Given the description of an element on the screen output the (x, y) to click on. 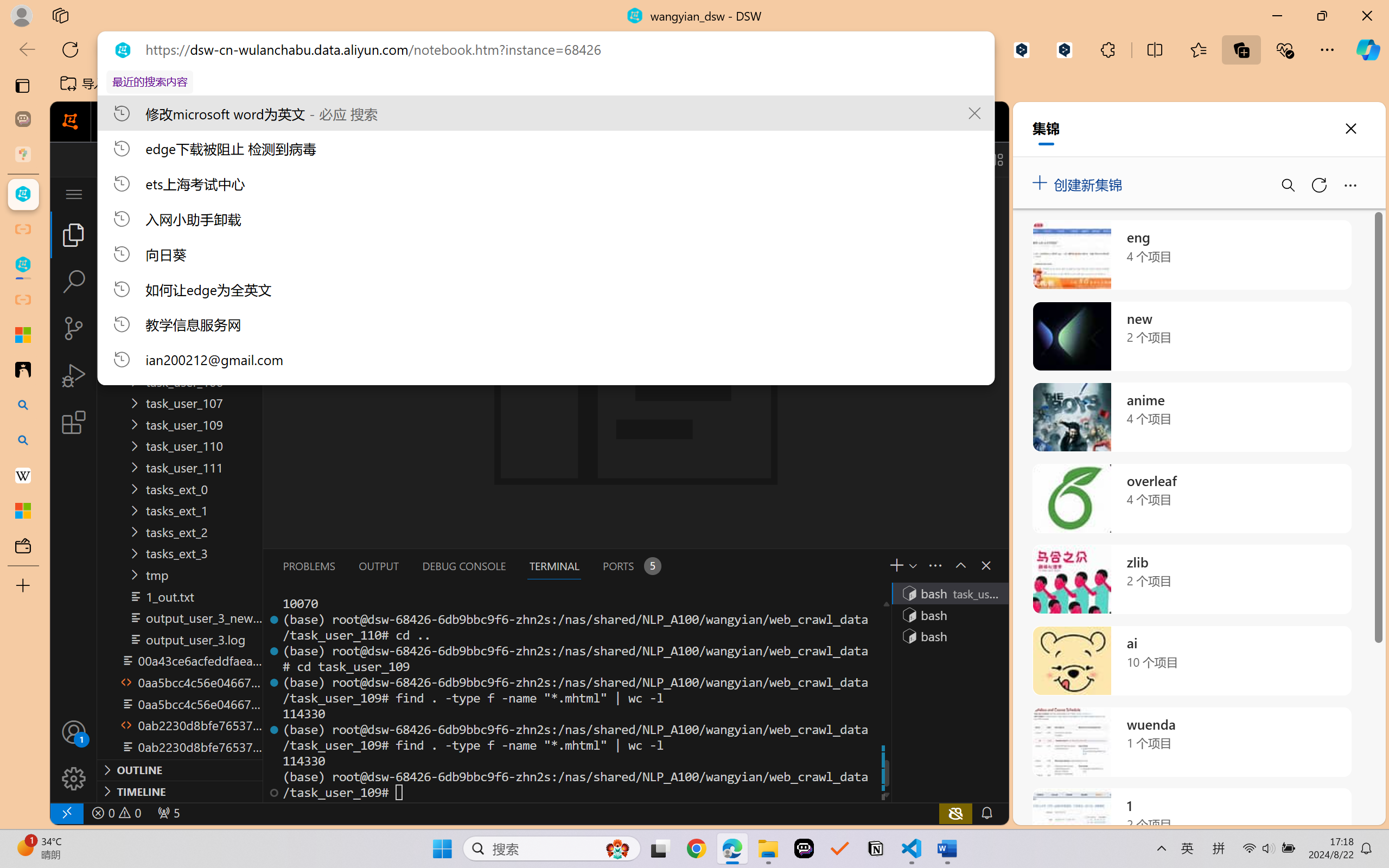
Transformer Circuits Thread (680, 83)
Problems (Ctrl+Shift+M) (308, 565)
Accounts - Sign in requested (73, 732)
SJTUvpn (419, 83)
